Given the description of an element on the screen output the (x, y) to click on. 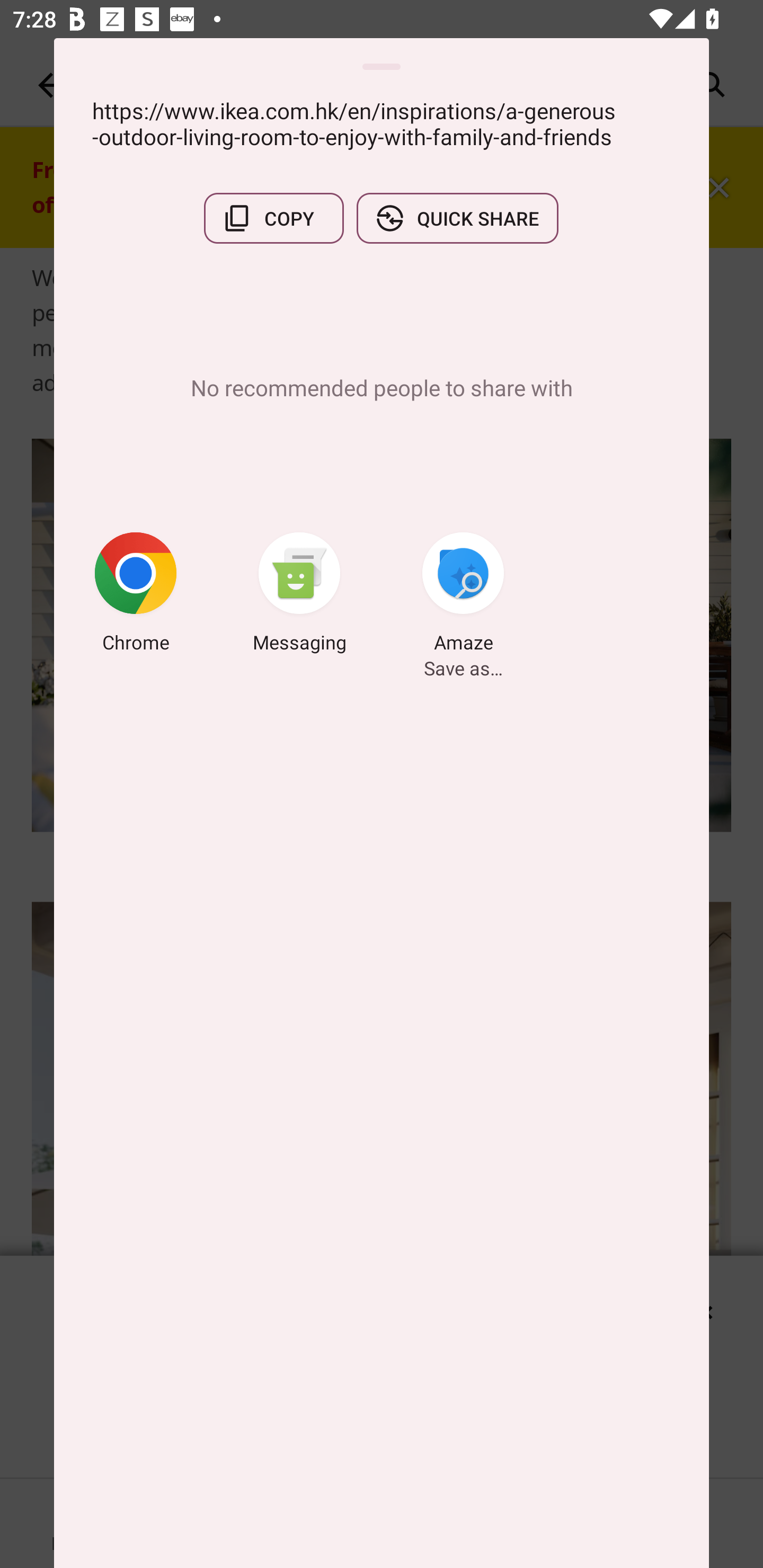
COPY (273, 218)
QUICK SHARE (457, 218)
Chrome (135, 594)
Messaging (299, 594)
Amaze Save as… (463, 594)
